Given the description of an element on the screen output the (x, y) to click on. 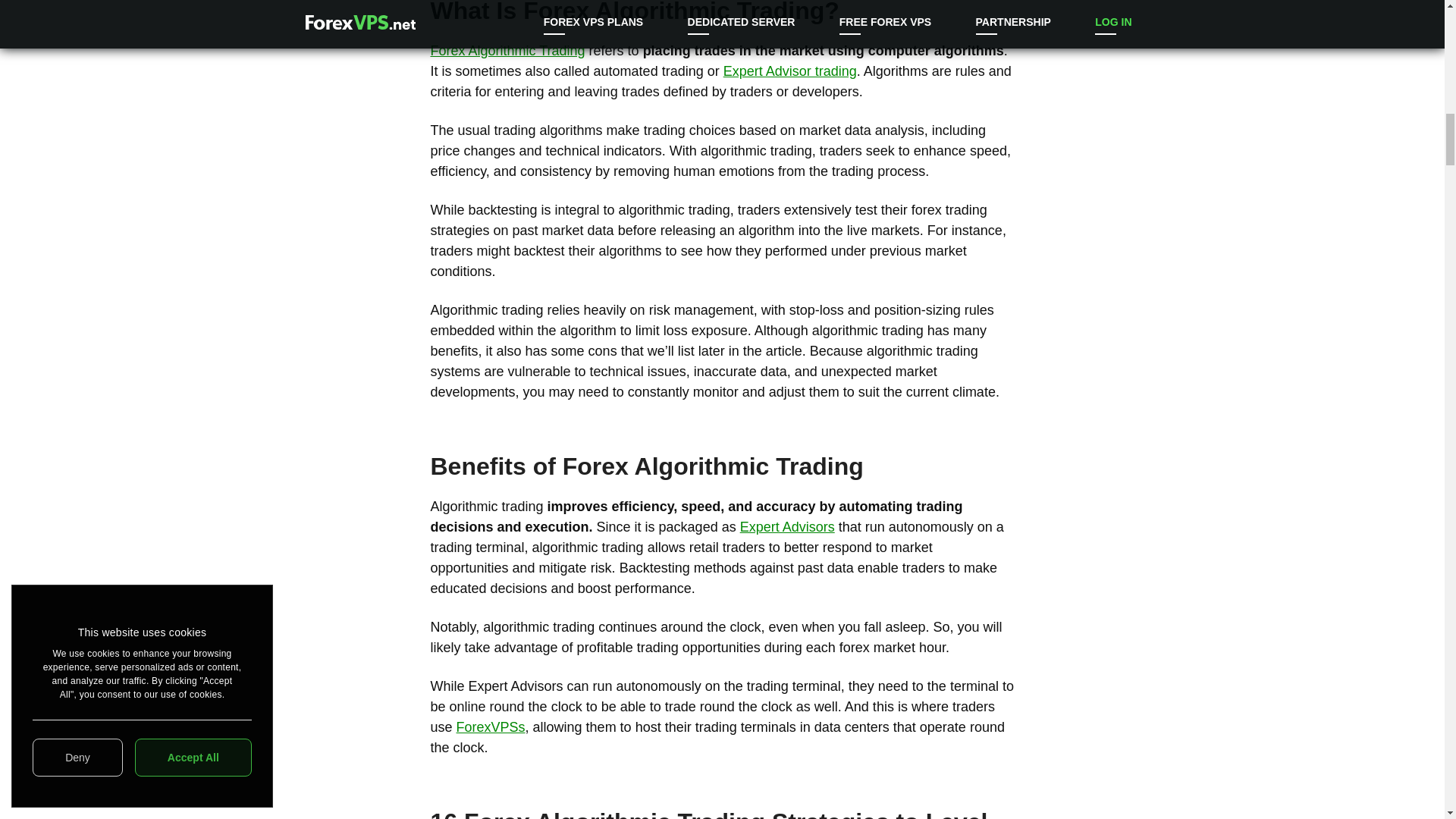
Forex Algorithmic Trading (507, 50)
Expert Advisor trading (790, 70)
ForexVPSs (491, 726)
Expert Advisors (786, 526)
